Given the description of an element on the screen output the (x, y) to click on. 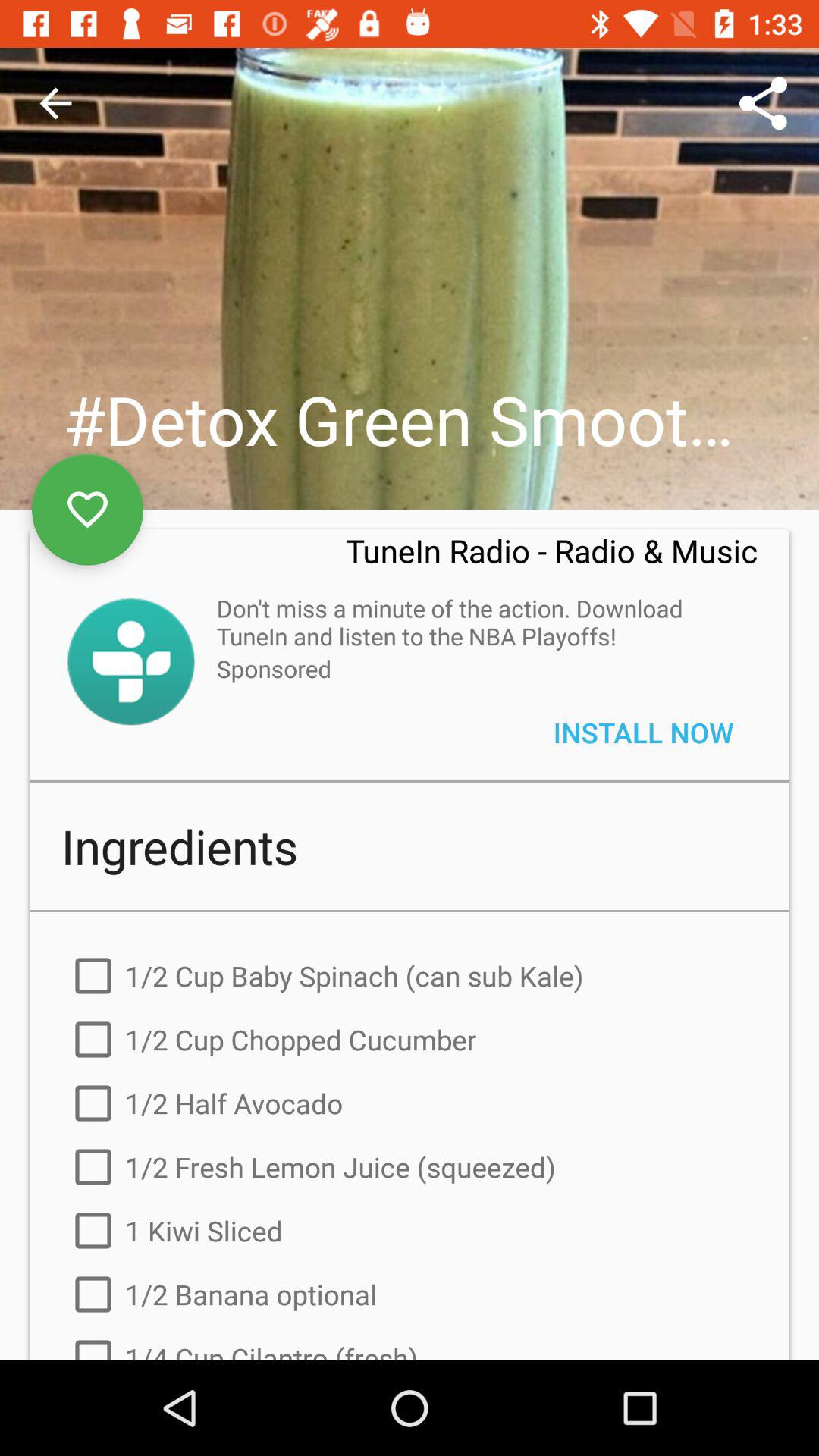
open item to the left of the don t miss item (130, 661)
